Given the description of an element on the screen output the (x, y) to click on. 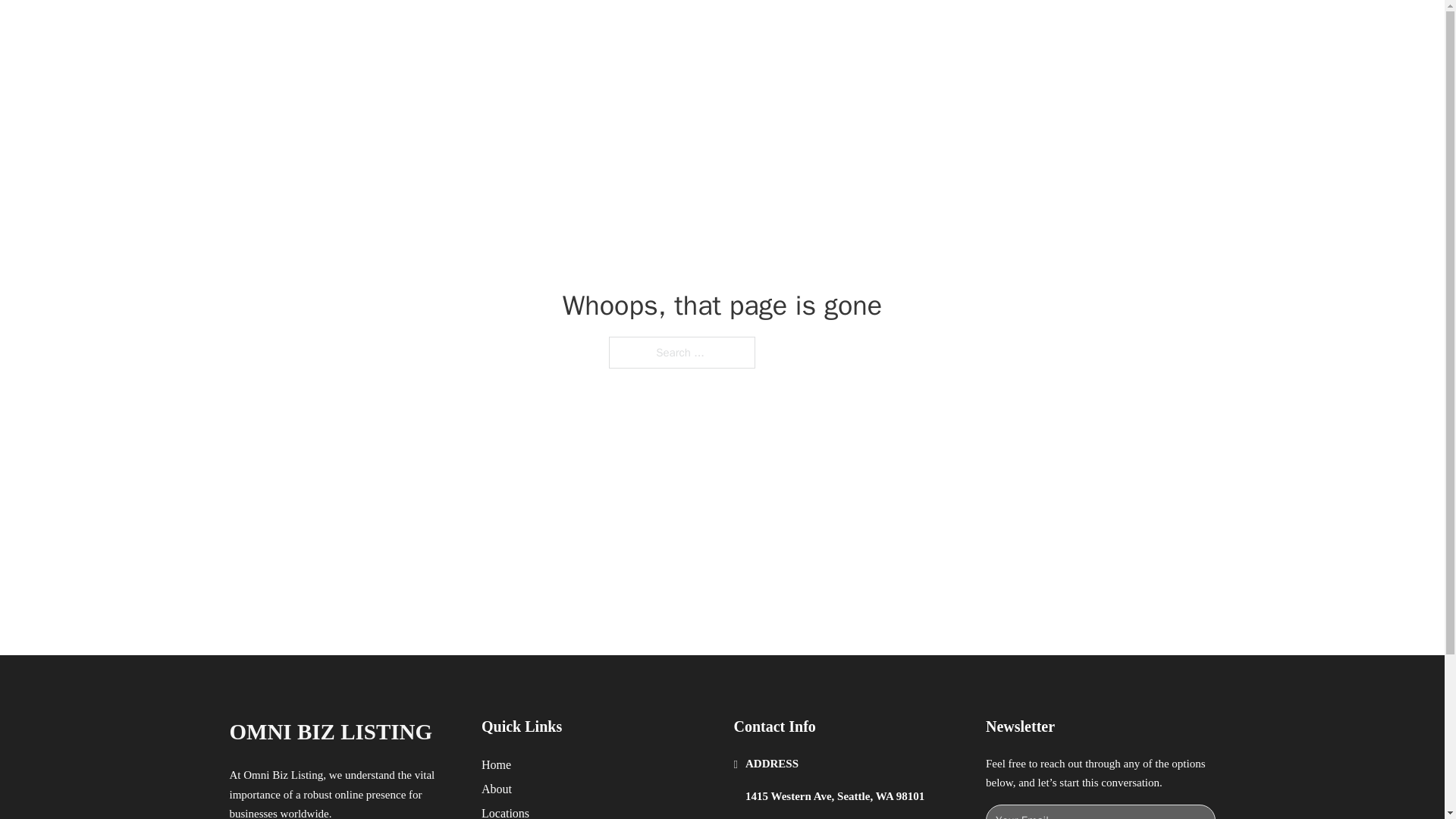
OMNI BIZ LISTING (330, 732)
Home (496, 764)
OMNI BIZ LISTING (400, 28)
About (496, 788)
LOCATIONS (990, 29)
Locations (505, 811)
HOME (919, 29)
